Given the description of an element on the screen output the (x, y) to click on. 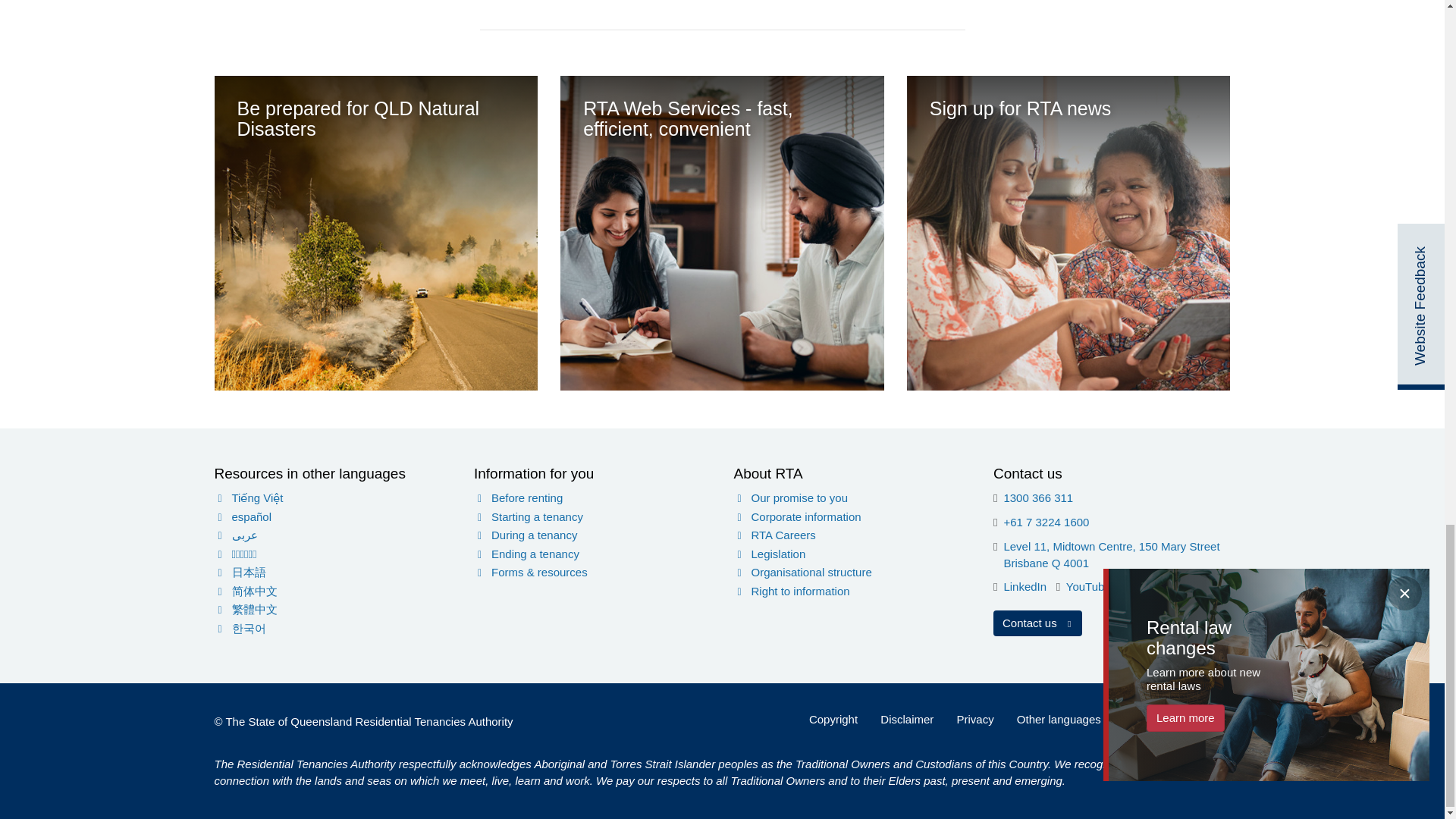
Arabic (332, 535)
Vietnamese (332, 497)
Spanish (332, 517)
